Given the description of an element on the screen output the (x, y) to click on. 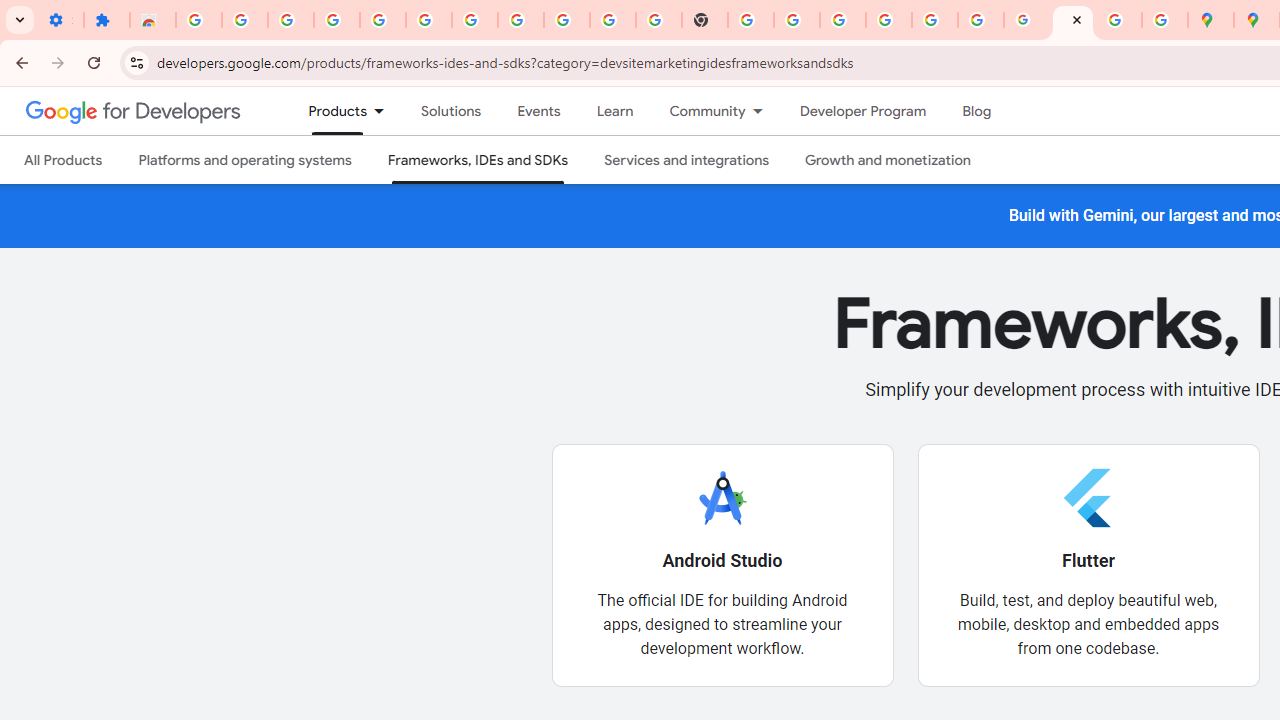
Safety in Our Products - Google Safety Center (1164, 20)
Android Studio logo (722, 497)
Learn how to find your photos - Google Photos Help (382, 20)
Platforms and operating systems (244, 160)
Solutions (451, 111)
Sign in - Google Accounts (474, 20)
Reviews: Helix Fruit Jump Arcade Game (153, 20)
Google Account (567, 20)
Frameworks, IDEs and SDKs - Google for Developers (1072, 20)
Learning Catalog (614, 111)
Google for Developers (133, 110)
Dropdown menu for Products (385, 111)
